Given the description of an element on the screen output the (x, y) to click on. 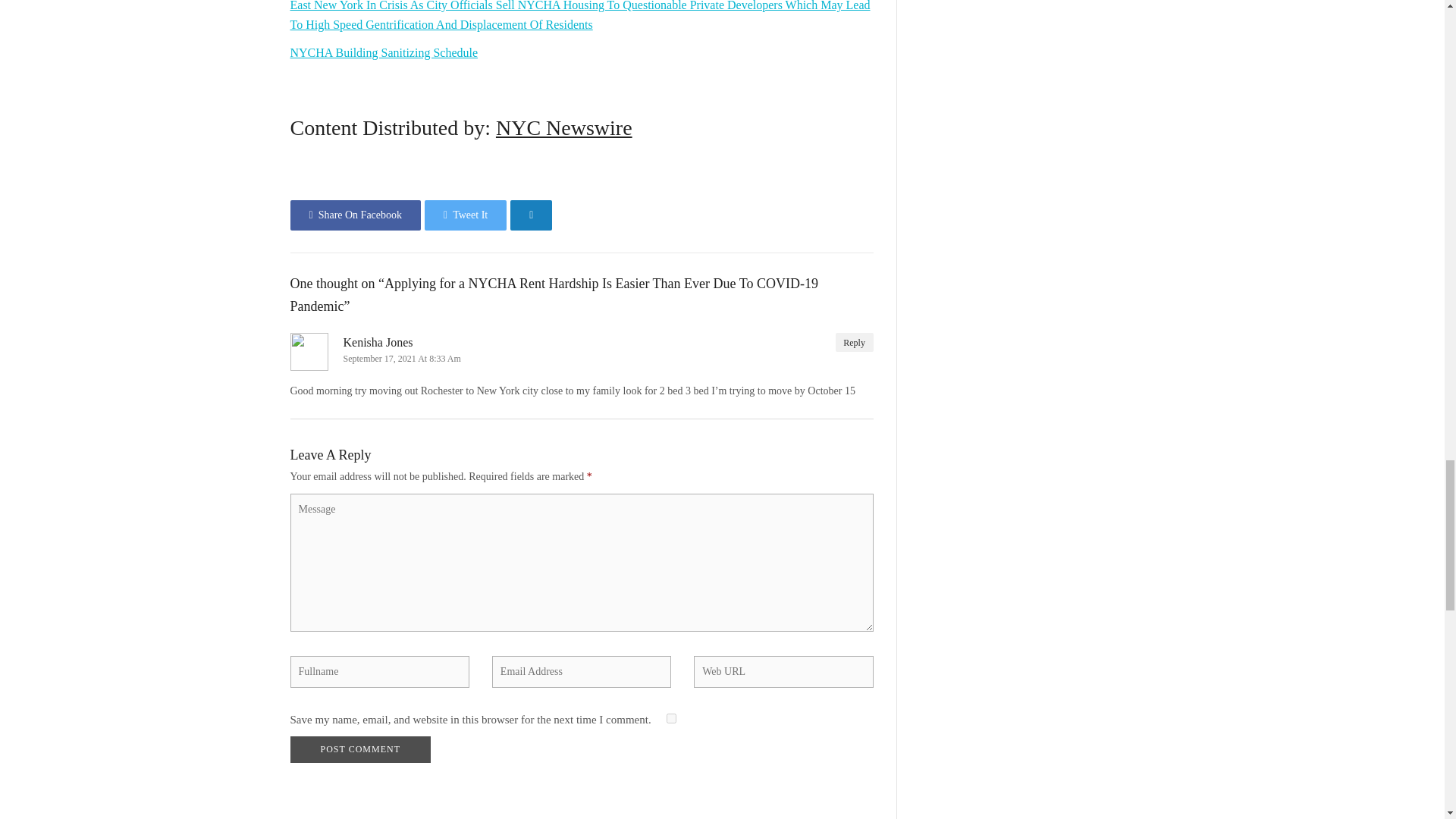
yes (671, 718)
Post Comment (359, 749)
